Given the description of an element on the screen output the (x, y) to click on. 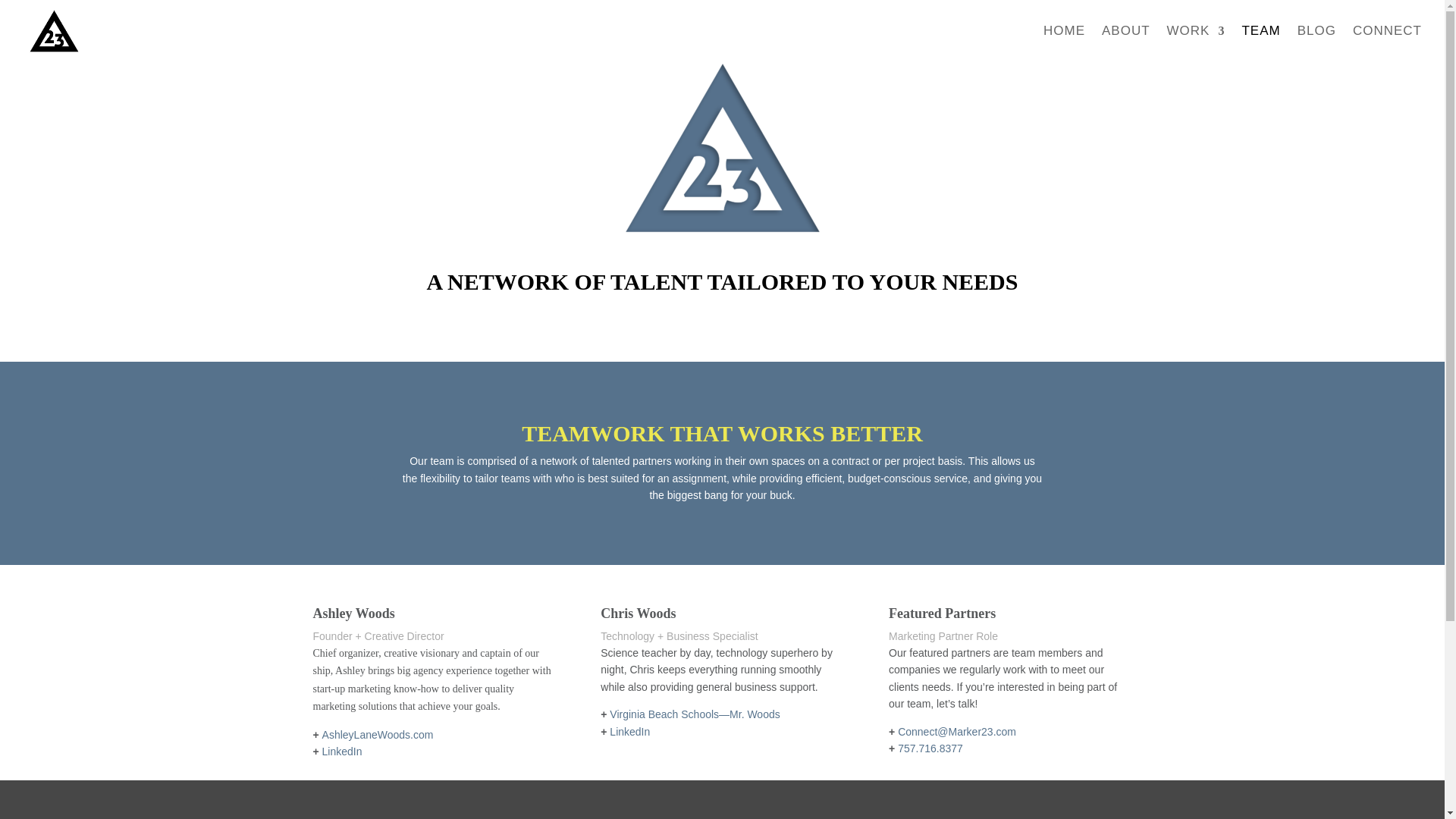
HOME (1063, 43)
WORK (1196, 43)
ABOUT (1126, 43)
TEAM (1260, 43)
BLOG (1316, 43)
CONNECT (1387, 43)
AshleyLaneWoods.com (377, 734)
LinkedIn (341, 751)
LinkedIn (629, 731)
